Given the description of an element on the screen output the (x, y) to click on. 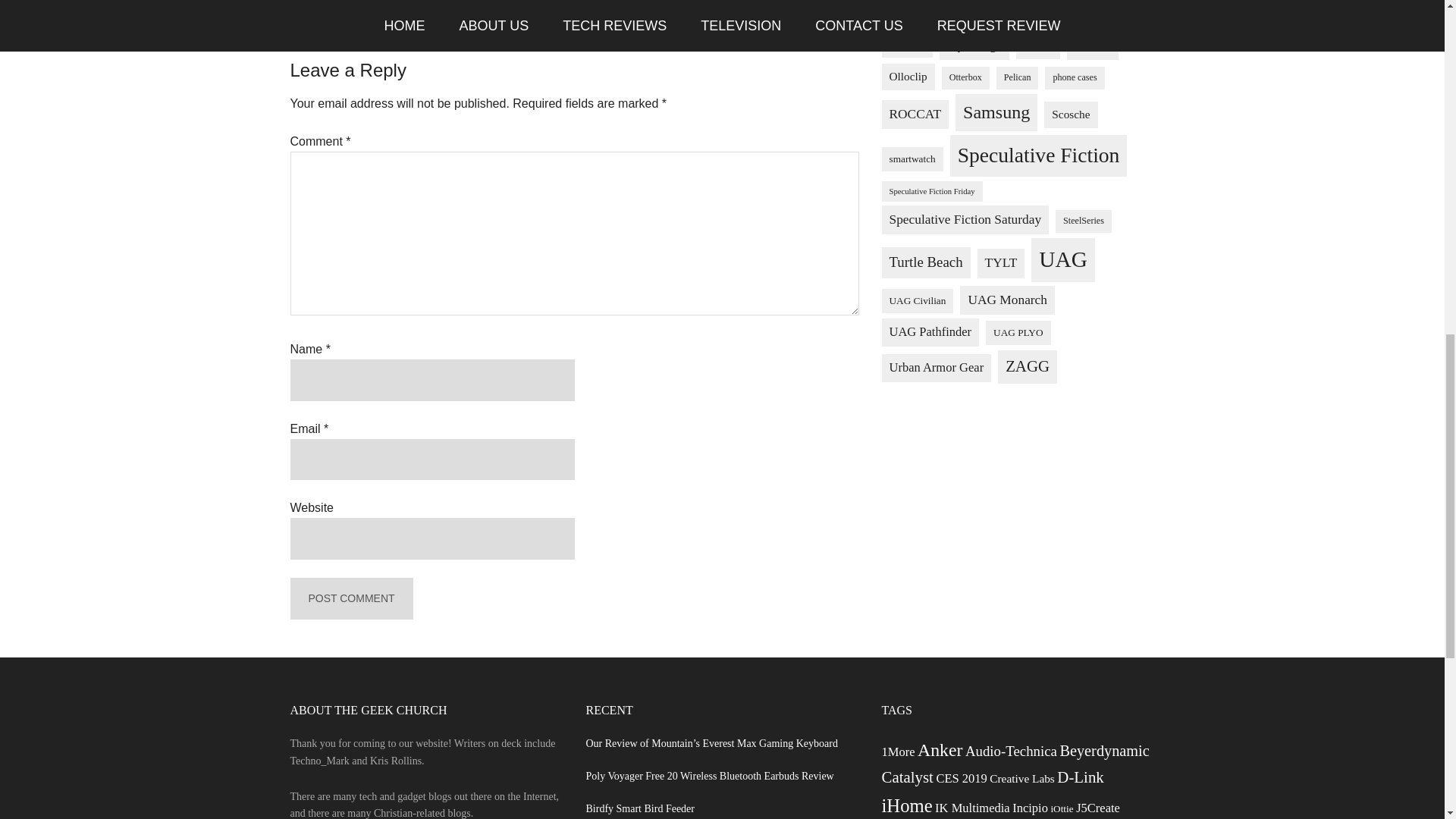
Post Comment (350, 598)
Post Comment (350, 598)
